Given the description of an element on the screen output the (x, y) to click on. 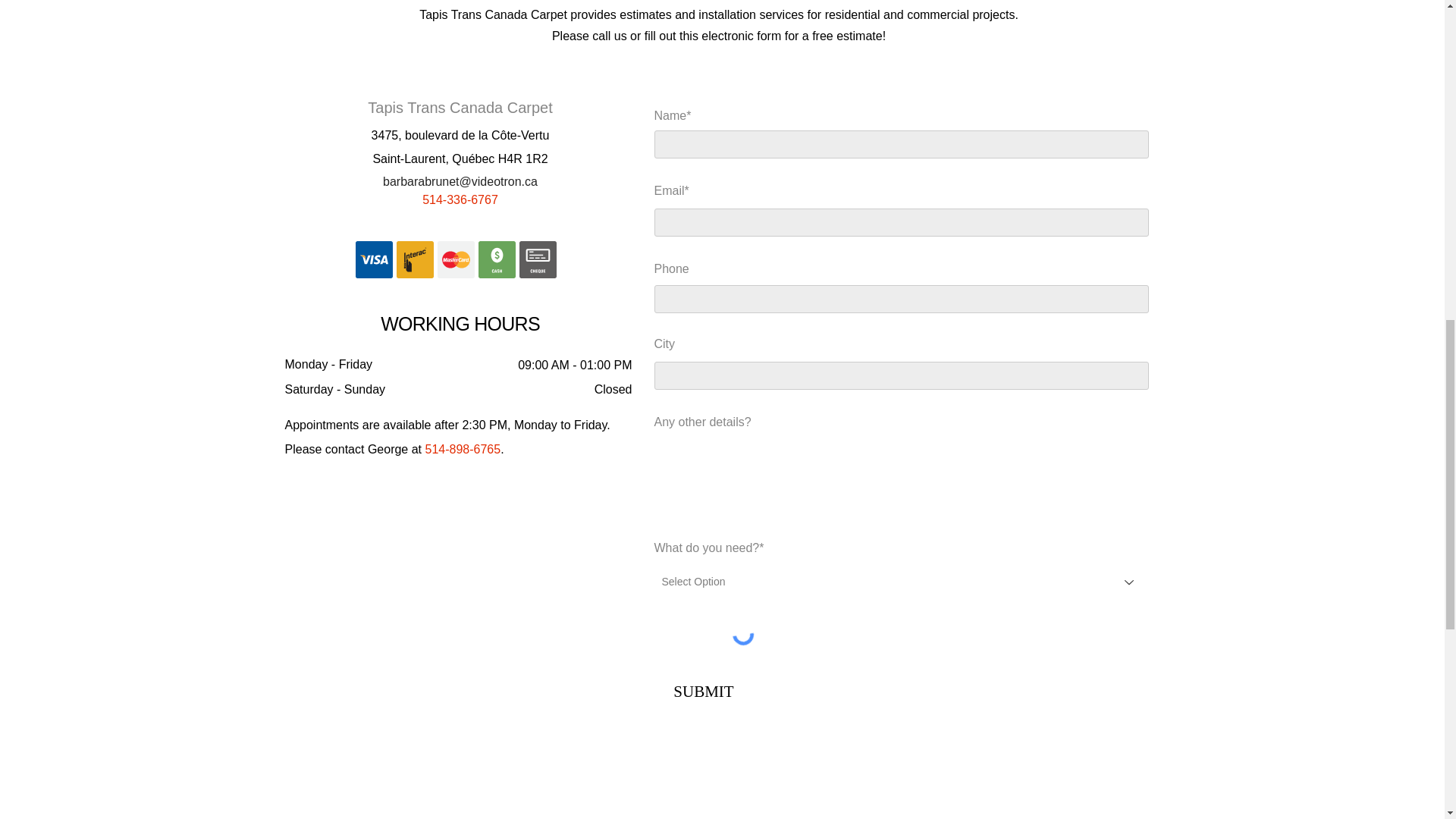
514-336-6767 (459, 201)
SUBMIT (702, 691)
514-898-6765 (462, 449)
